Given the description of an element on the screen output the (x, y) to click on. 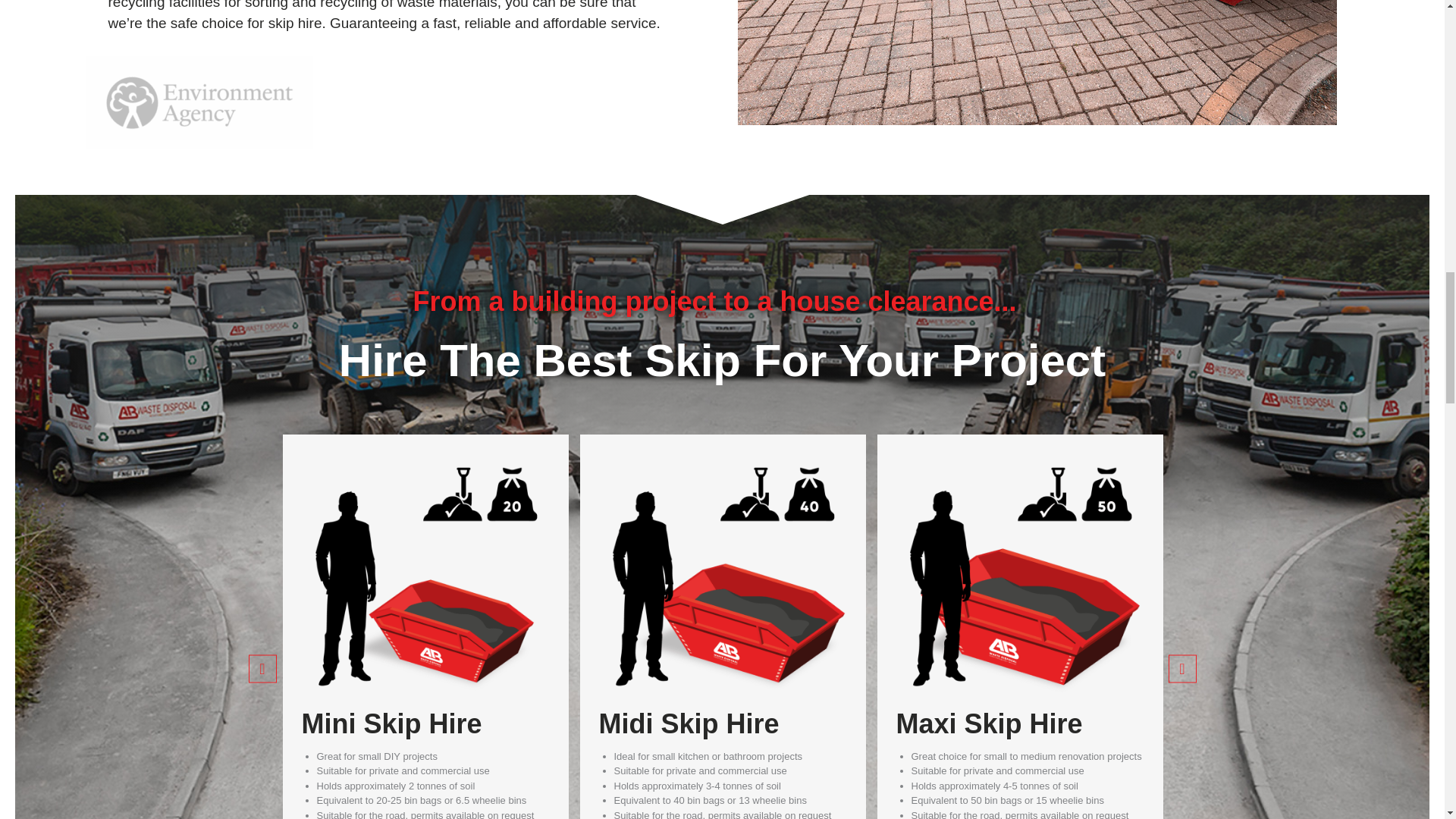
Mini Skip Hire (425, 696)
Mini Skip Hire (391, 723)
environment-agency-logo-480w (198, 102)
Midi Skip Hire (688, 723)
AB Waste-230518-Horizontal-wide-skip-residence-1600x1067-010 (1036, 62)
Midi Skip Hire (722, 696)
